Given the description of an element on the screen output the (x, y) to click on. 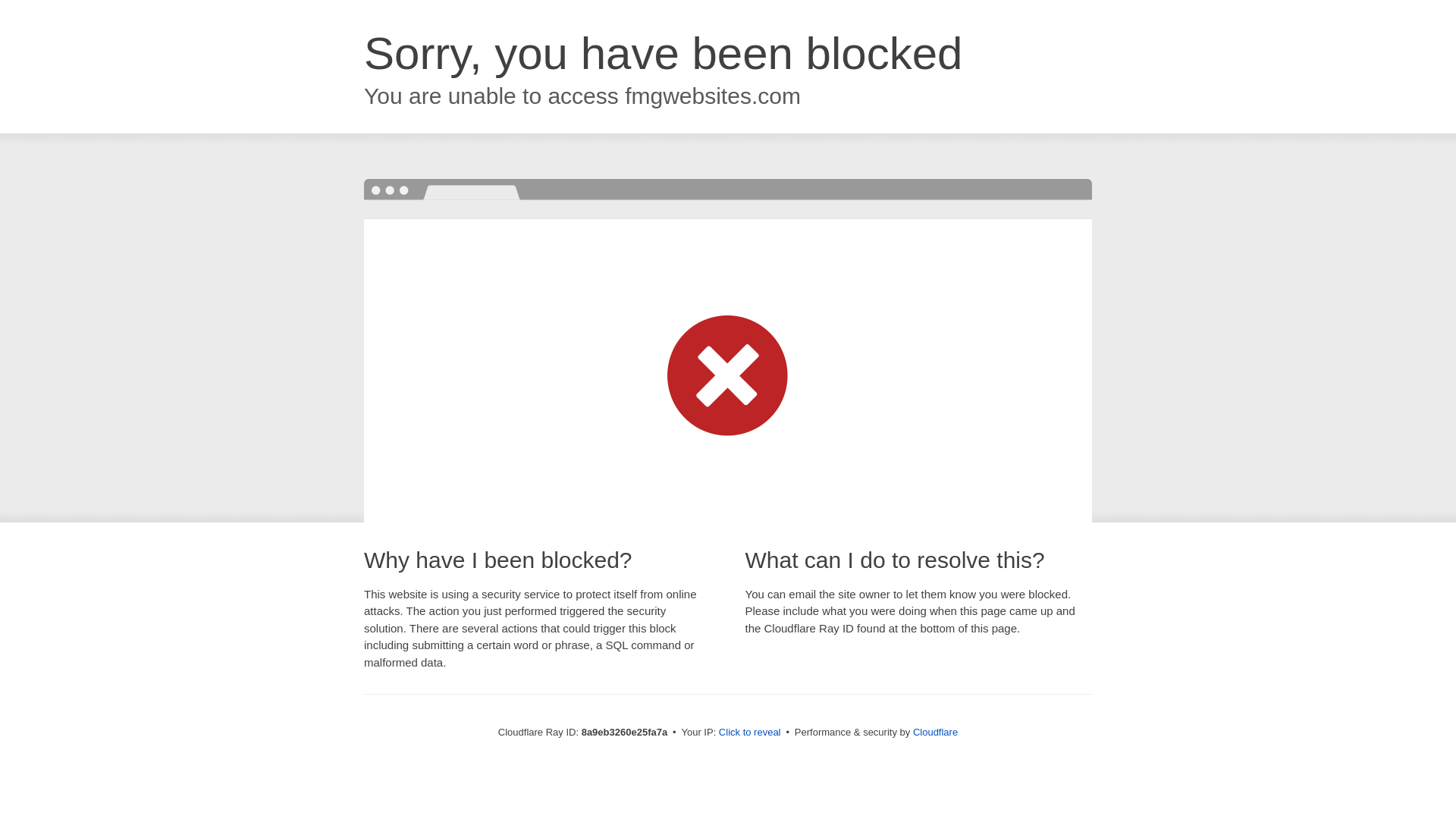
Click to reveal (749, 732)
Cloudflare (935, 731)
